Given the description of an element on the screen output the (x, y) to click on. 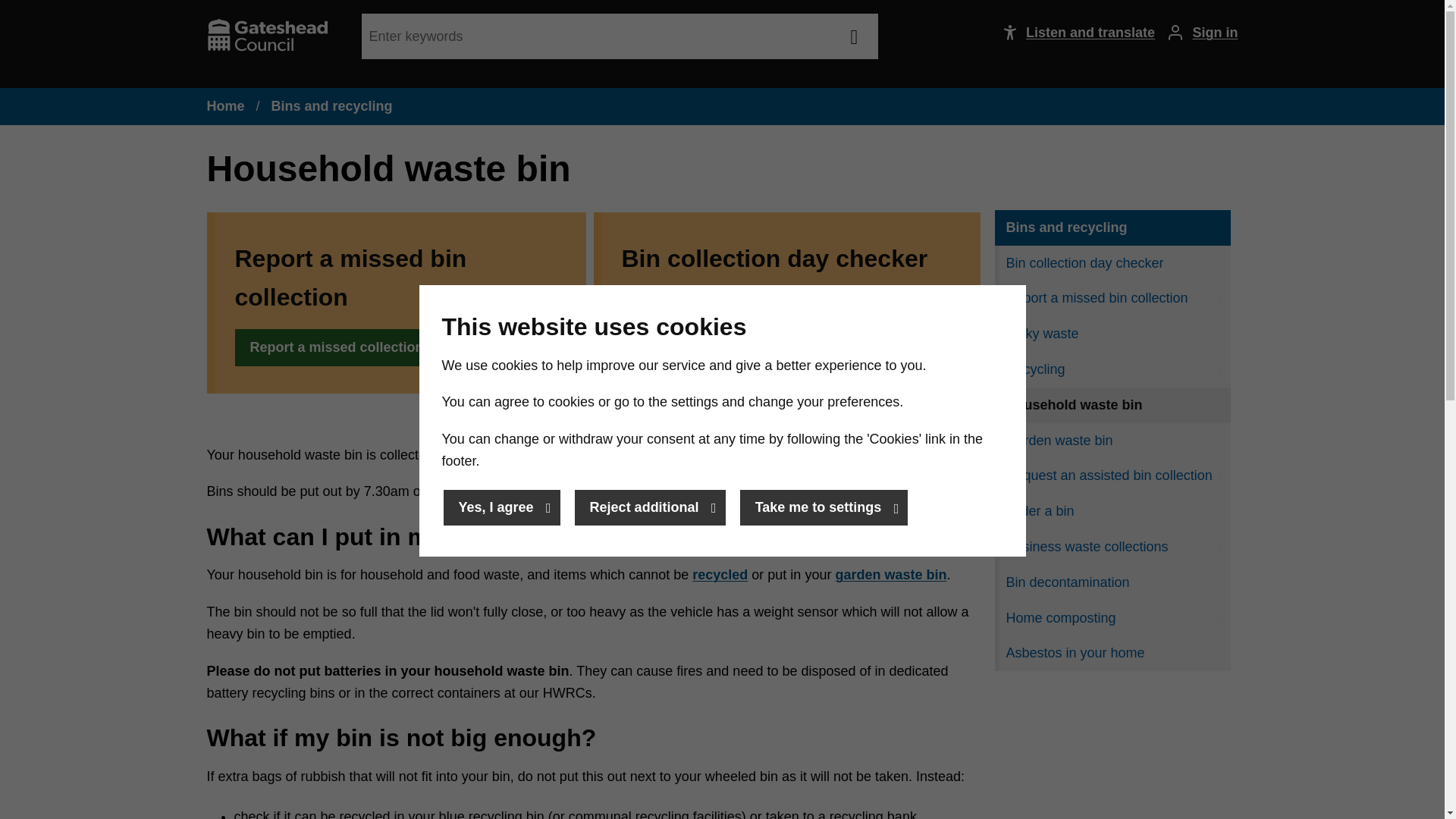
Bins and recycling (1114, 228)
Bin decontamination (1112, 582)
Take me to settings (824, 507)
Sign in (1196, 32)
Home (225, 105)
Search this website (853, 36)
recycled (720, 574)
Bulky waste (1112, 334)
Find out your next bin collection date (758, 308)
Skip to main content (16, 15)
Yes, I agree (500, 507)
garden waste bin (890, 574)
Bin collection day checker (1112, 263)
Order a bin (1112, 511)
Report a missed bin collection (1112, 298)
